Given the description of an element on the screen output the (x, y) to click on. 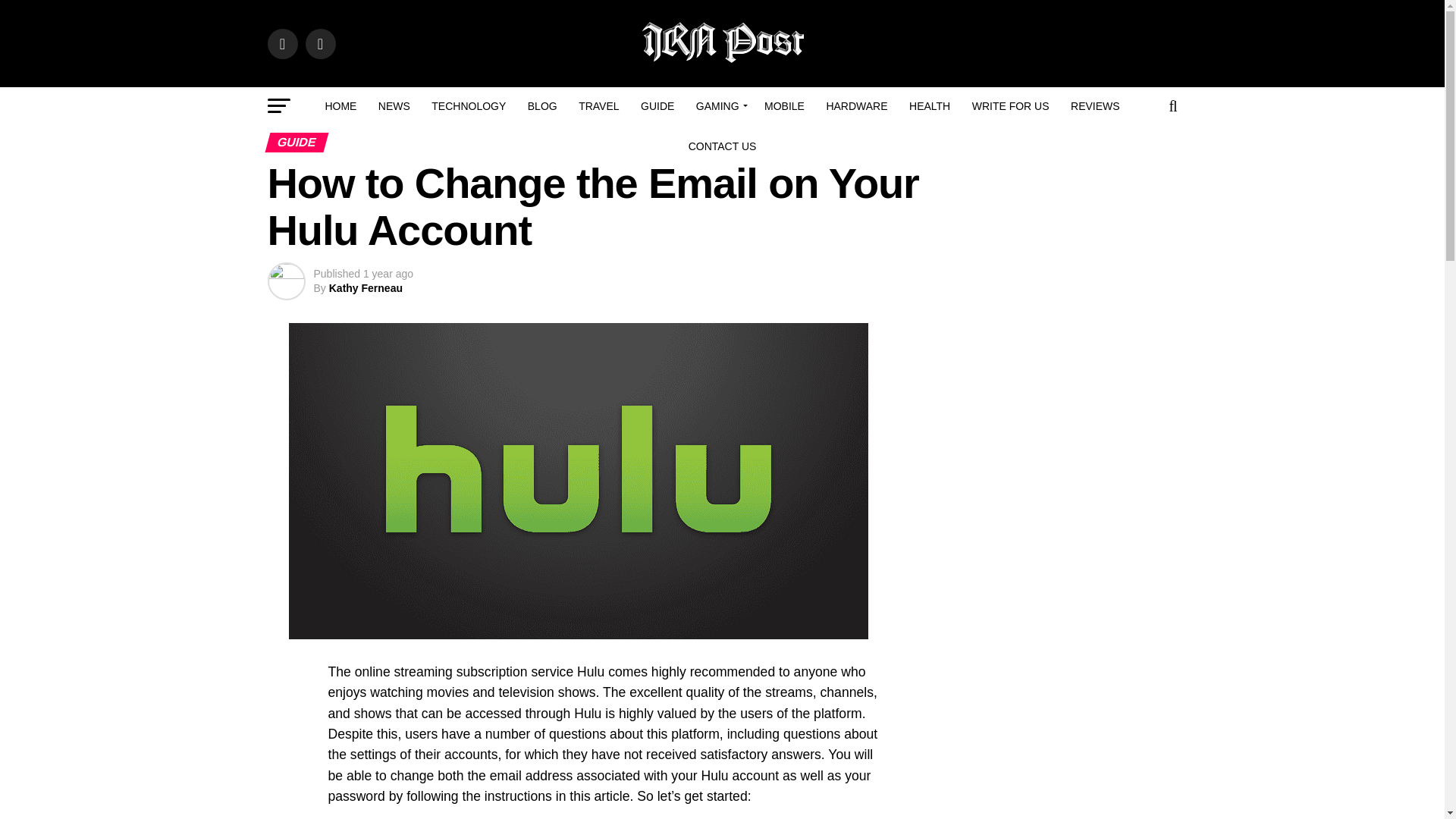
Posts by Kathy Ferneau (366, 287)
HOME (340, 105)
BLOG (542, 105)
TRAVEL (598, 105)
GAMING (719, 105)
NEWS (394, 105)
TECHNOLOGY (468, 105)
GUIDE (656, 105)
